Given the description of an element on the screen output the (x, y) to click on. 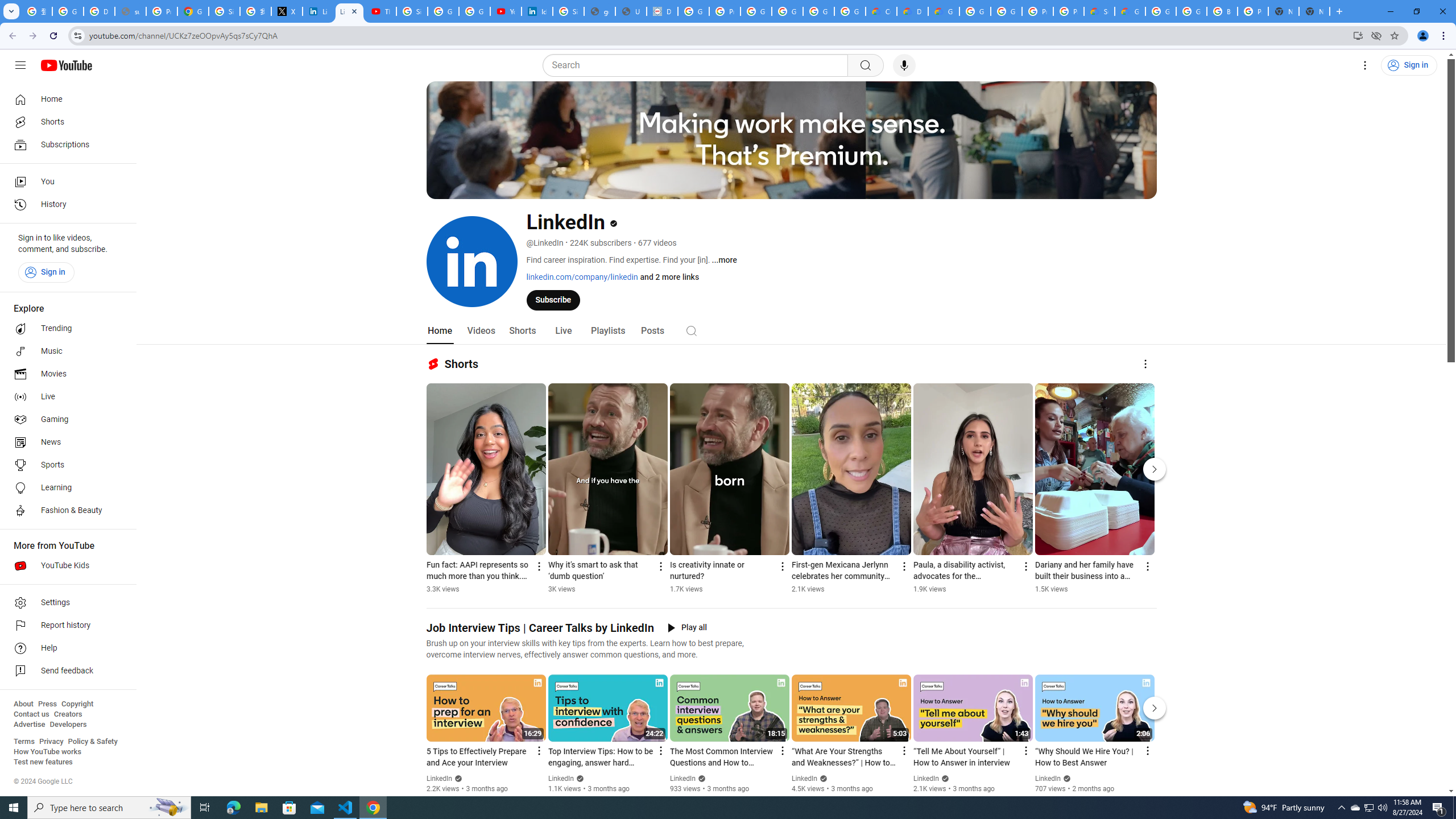
Install YouTube (1358, 35)
Data Privacy Framework (662, 11)
Gaming (64, 419)
Policy & Safety (91, 741)
linkedin.com/company/linkedin (581, 276)
Playlists (607, 330)
Send feedback (64, 671)
How YouTube works (47, 751)
